Given the description of an element on the screen output the (x, y) to click on. 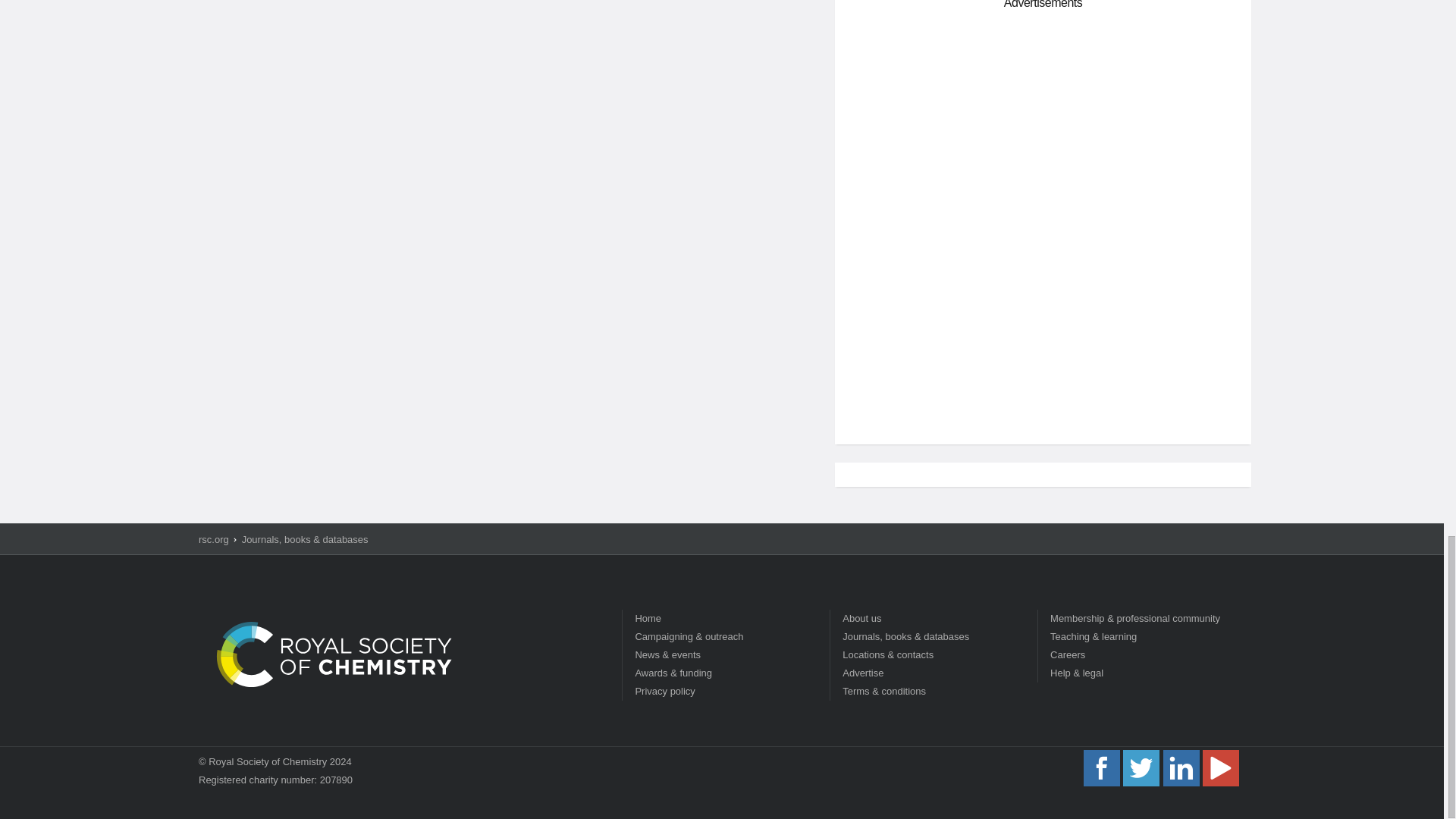
3rd party ad content (1043, 123)
3rd party ad content (1043, 325)
